Given the description of an element on the screen output the (x, y) to click on. 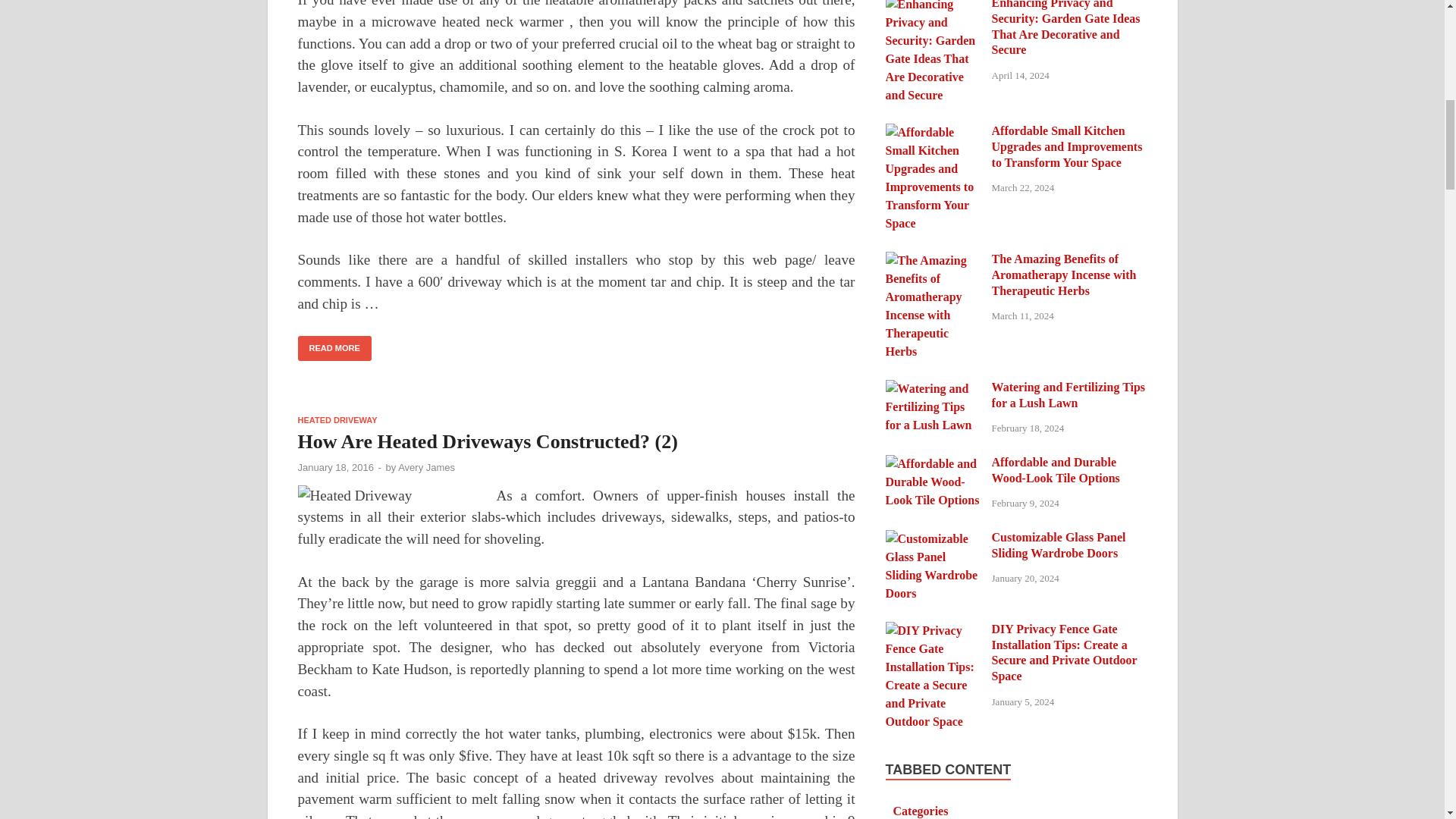
Customizable Glass Panel Sliding Wardrobe Doors (932, 538)
Affordable and Durable Wood-Look Tile Options (932, 463)
Watering and Fertilizing Tips for a Lush Lawn (932, 388)
